Given the description of an element on the screen output the (x, y) to click on. 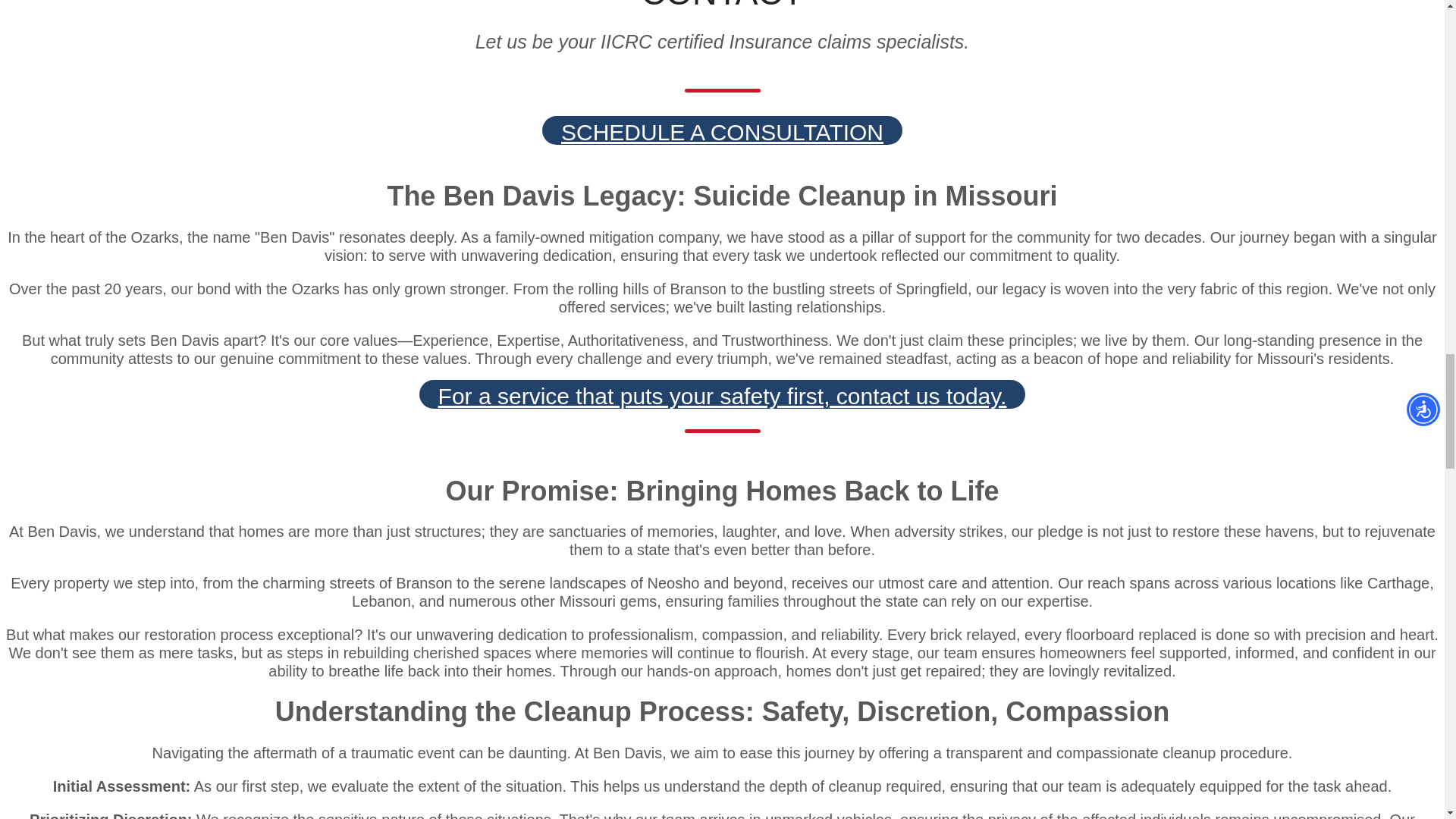
For a service that puts your safety first, contact us today. (722, 394)
SCHEDULE A CONSULTATION (721, 130)
